Given the description of an element on the screen output the (x, y) to click on. 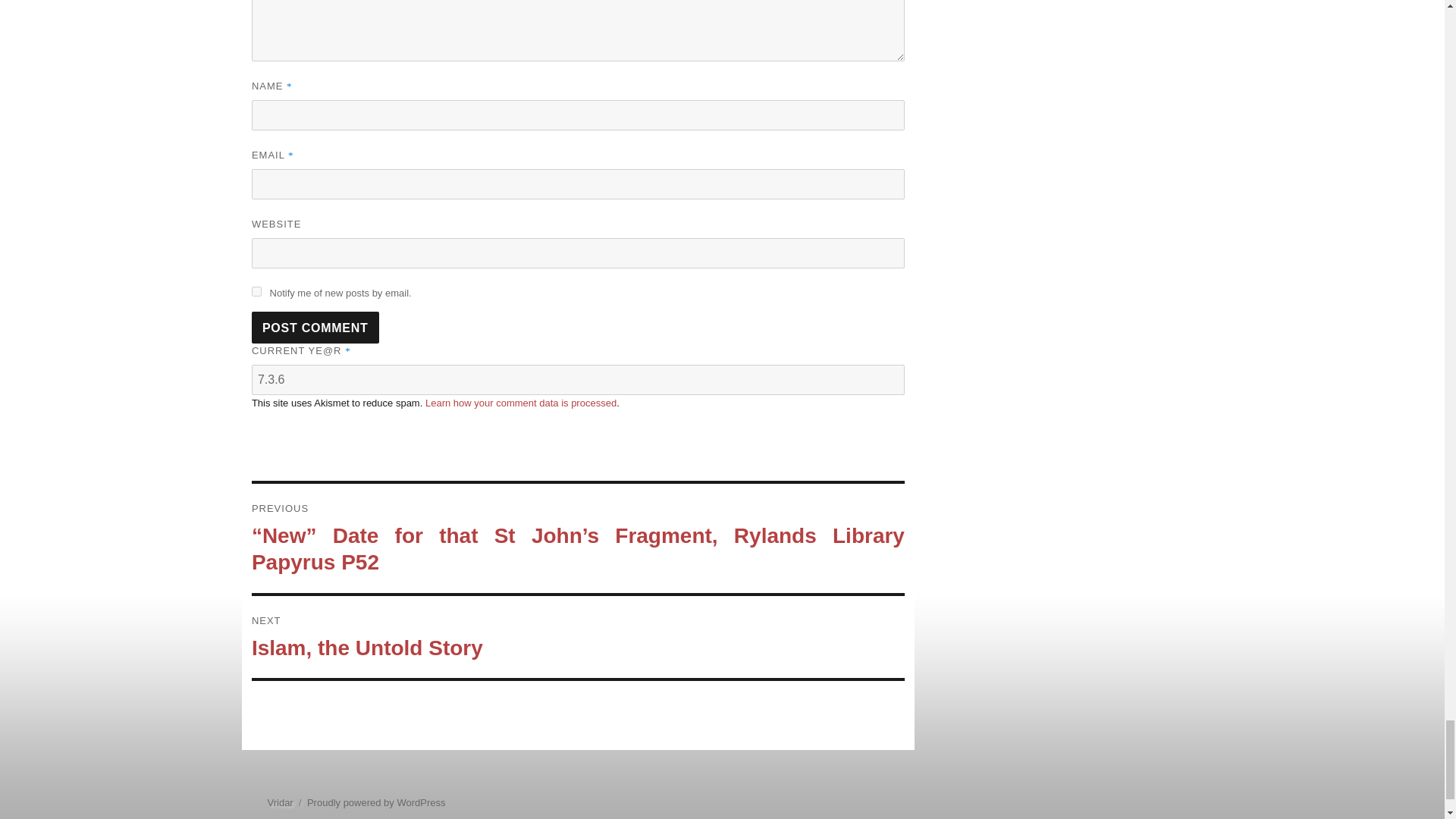
7.3.6 (577, 379)
subscribe (256, 291)
Post Comment (314, 327)
